Given the description of an element on the screen output the (x, y) to click on. 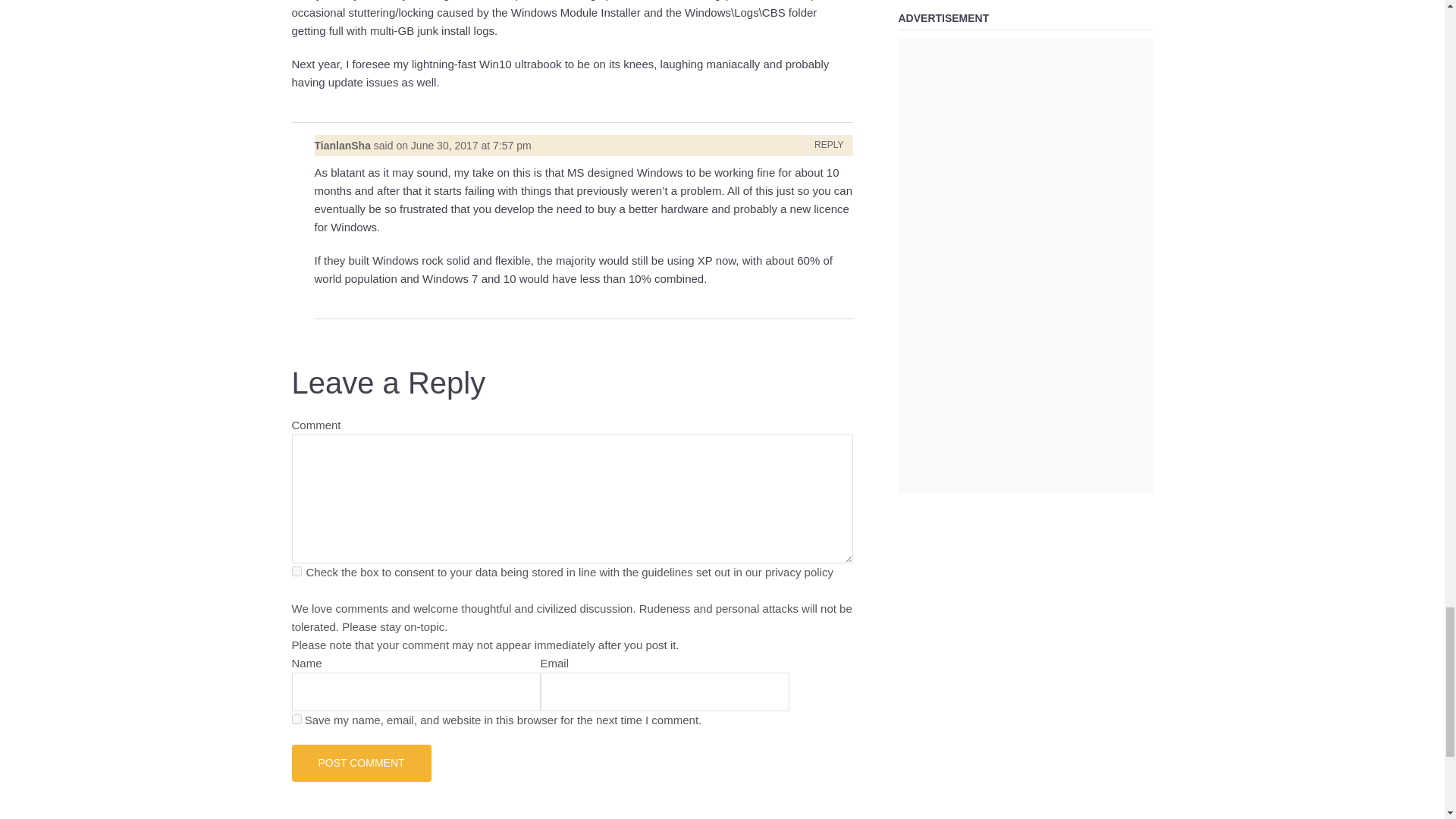
Post Comment (360, 762)
yes (296, 718)
privacy-key (296, 571)
